Given the description of an element on the screen output the (x, y) to click on. 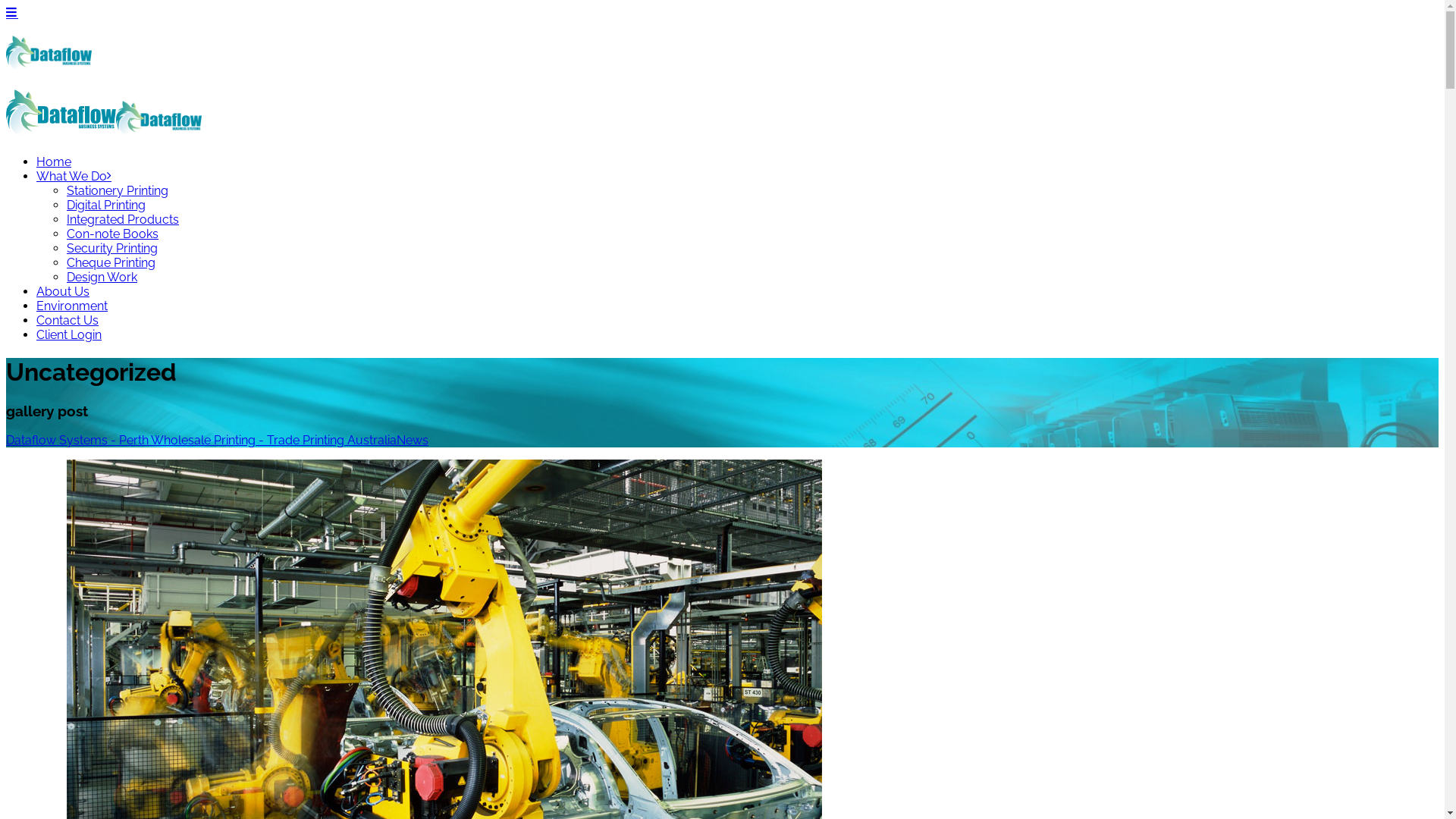
Integrated Products Element type: text (752, 219)
Stationery Printing Element type: text (752, 190)
Digital Printing Element type: text (752, 204)
Con-note Books Element type: text (752, 233)
Environment Element type: text (737, 305)
What We Do Element type: text (737, 176)
About Us Element type: text (737, 291)
News Element type: text (412, 440)
Contact Us Element type: text (737, 320)
Cheque Printing Element type: text (752, 262)
Client Login Element type: text (737, 334)
Design Work Element type: text (752, 276)
Security Printing Element type: text (752, 248)
Home Element type: text (737, 161)
